Given the description of an element on the screen output the (x, y) to click on. 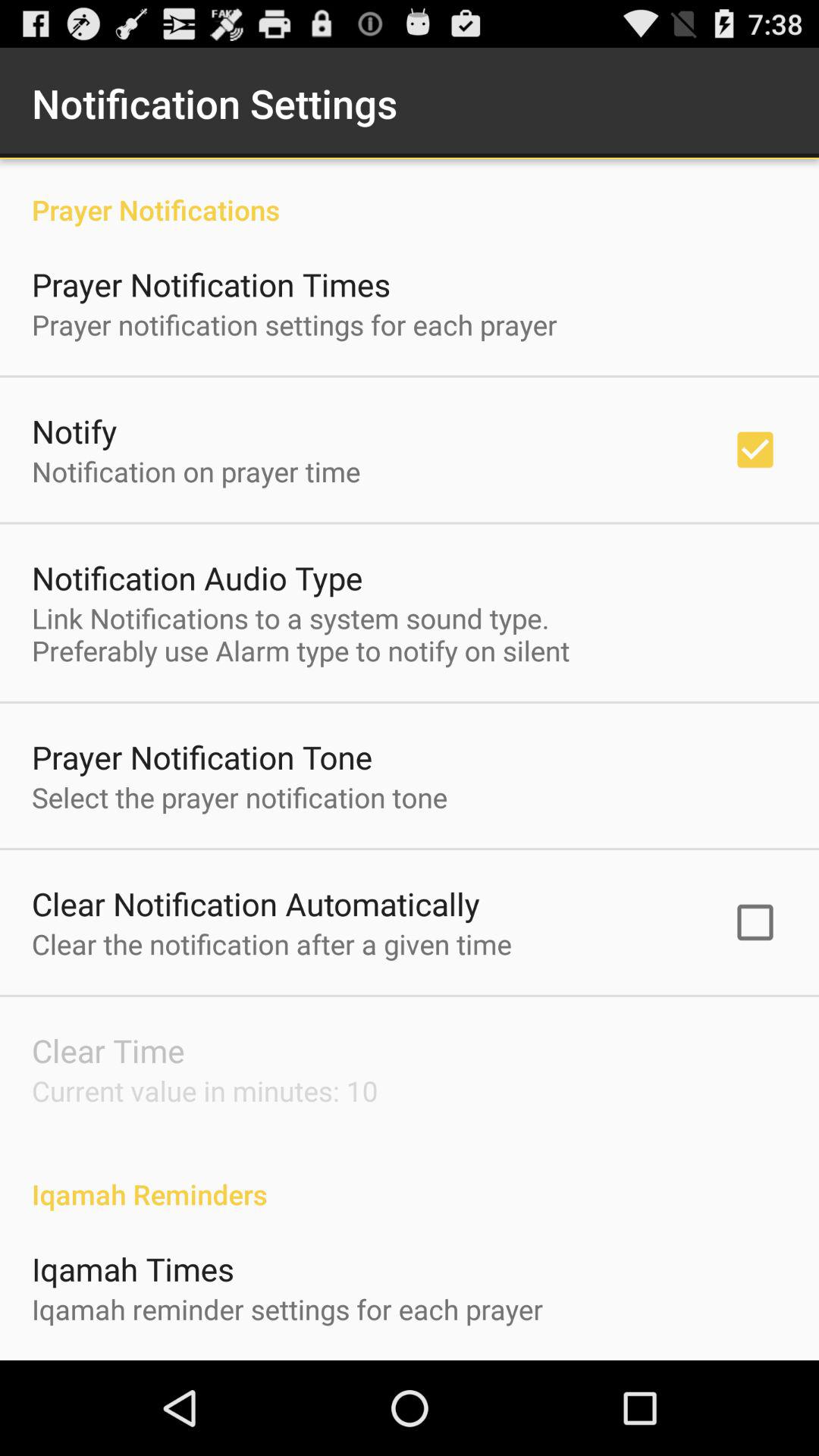
scroll until the current value in app (204, 1090)
